Given the description of an element on the screen output the (x, y) to click on. 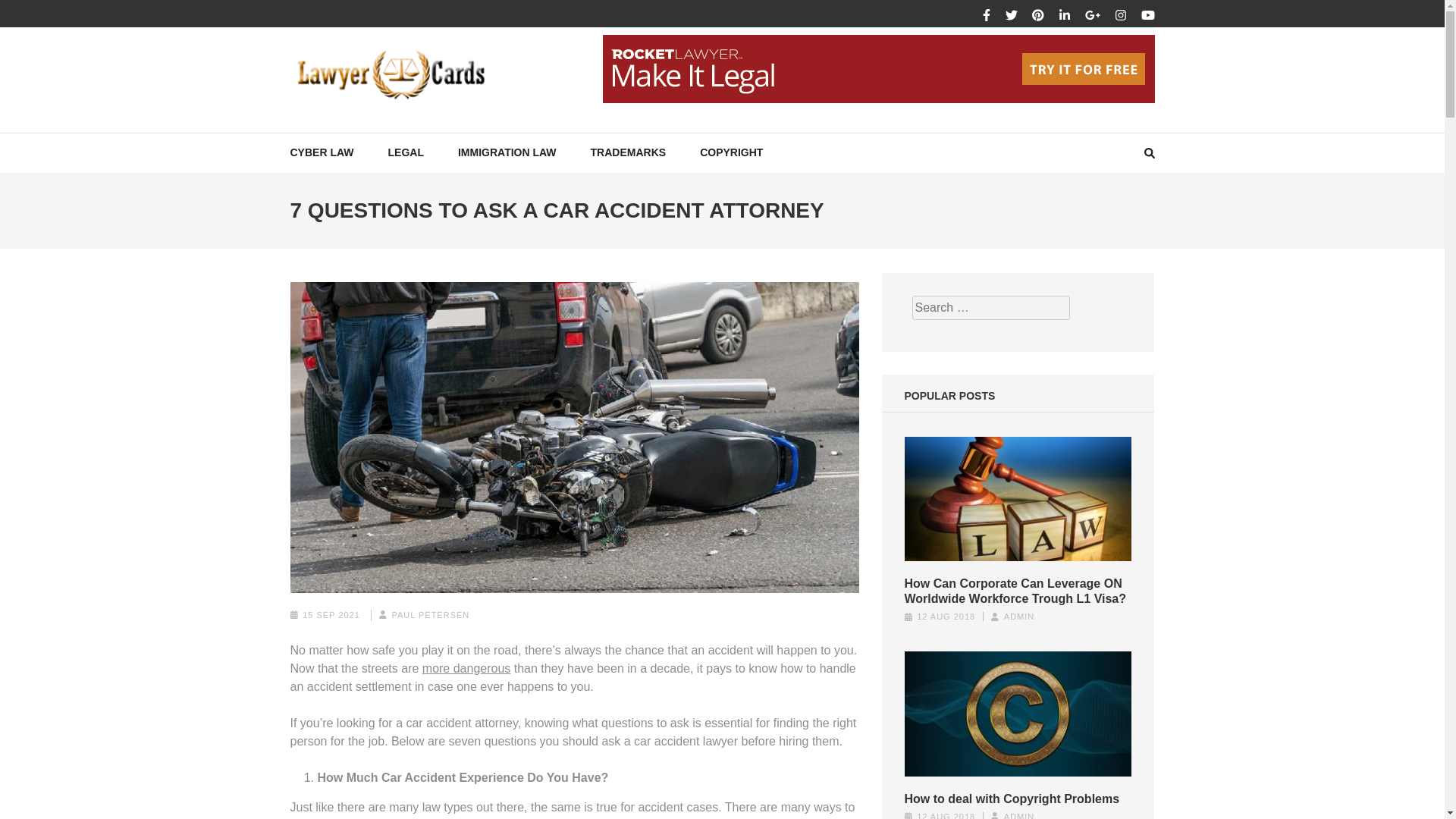
IMMIGRATION LAW (507, 152)
LAWYER CARDS (400, 134)
TRADEMARKS (628, 152)
Pinterest (1037, 15)
YouTube (1147, 15)
COPYRIGHT (731, 152)
Google Plus (1092, 15)
PAUL PETERSEN (429, 614)
more dangerous (466, 667)
Twitter (1011, 15)
15 SEP 2021 (330, 614)
LEGAL (405, 152)
CYBER LAW (321, 152)
